Given the description of an element on the screen output the (x, y) to click on. 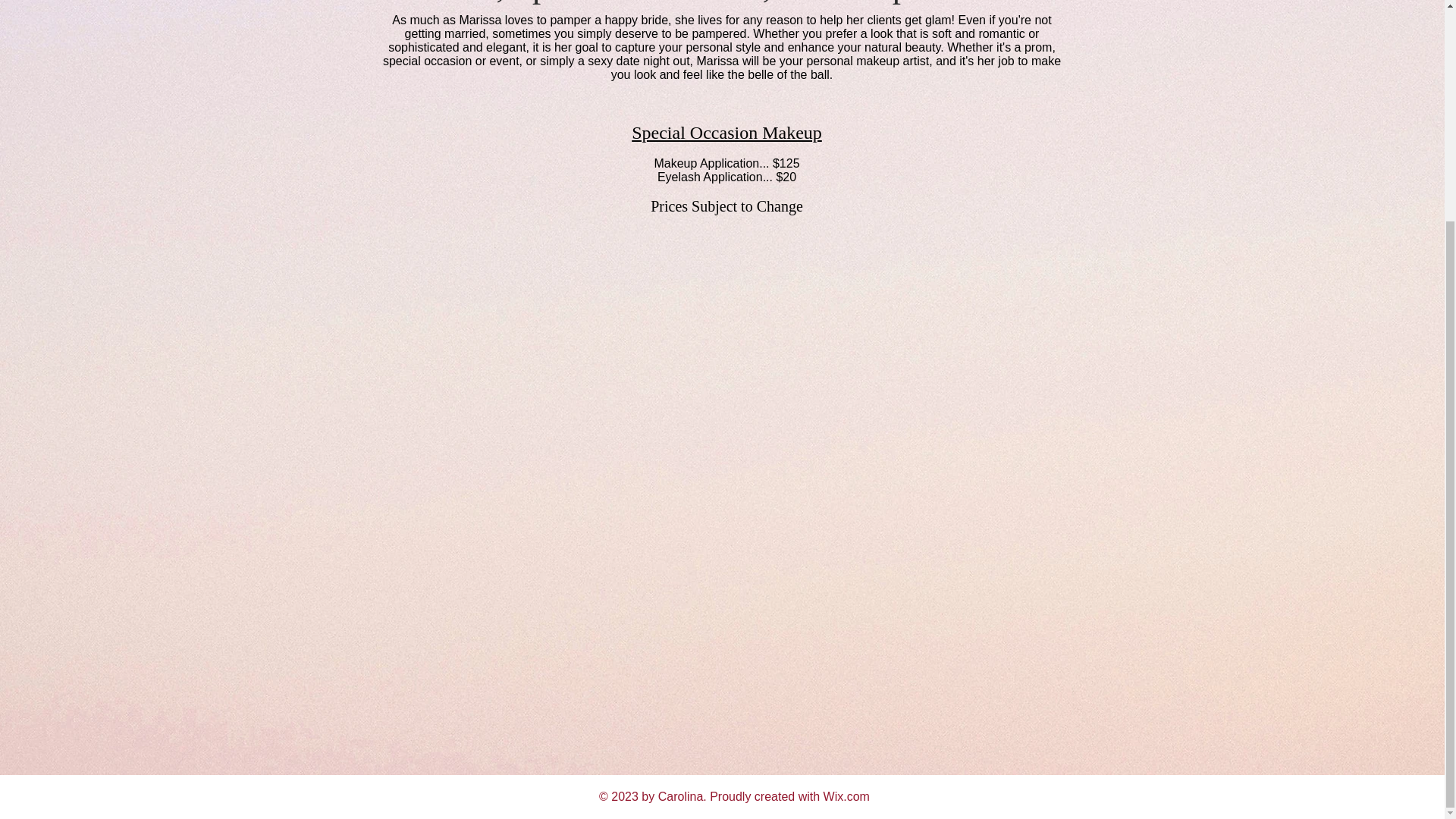
Wix.com (846, 796)
